Given the description of an element on the screen output the (x, y) to click on. 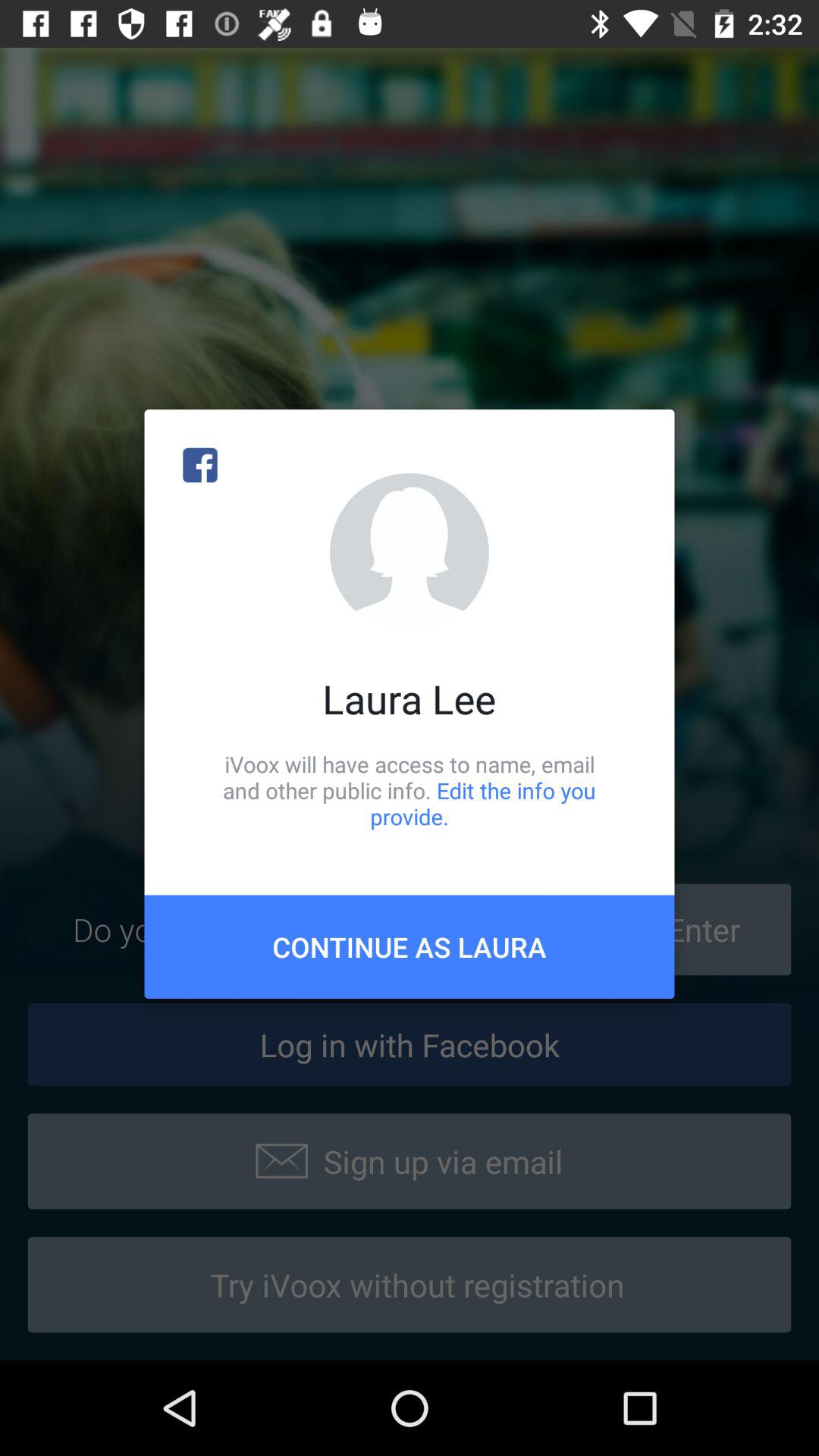
scroll to the ivoox will have (409, 790)
